Given the description of an element on the screen output the (x, y) to click on. 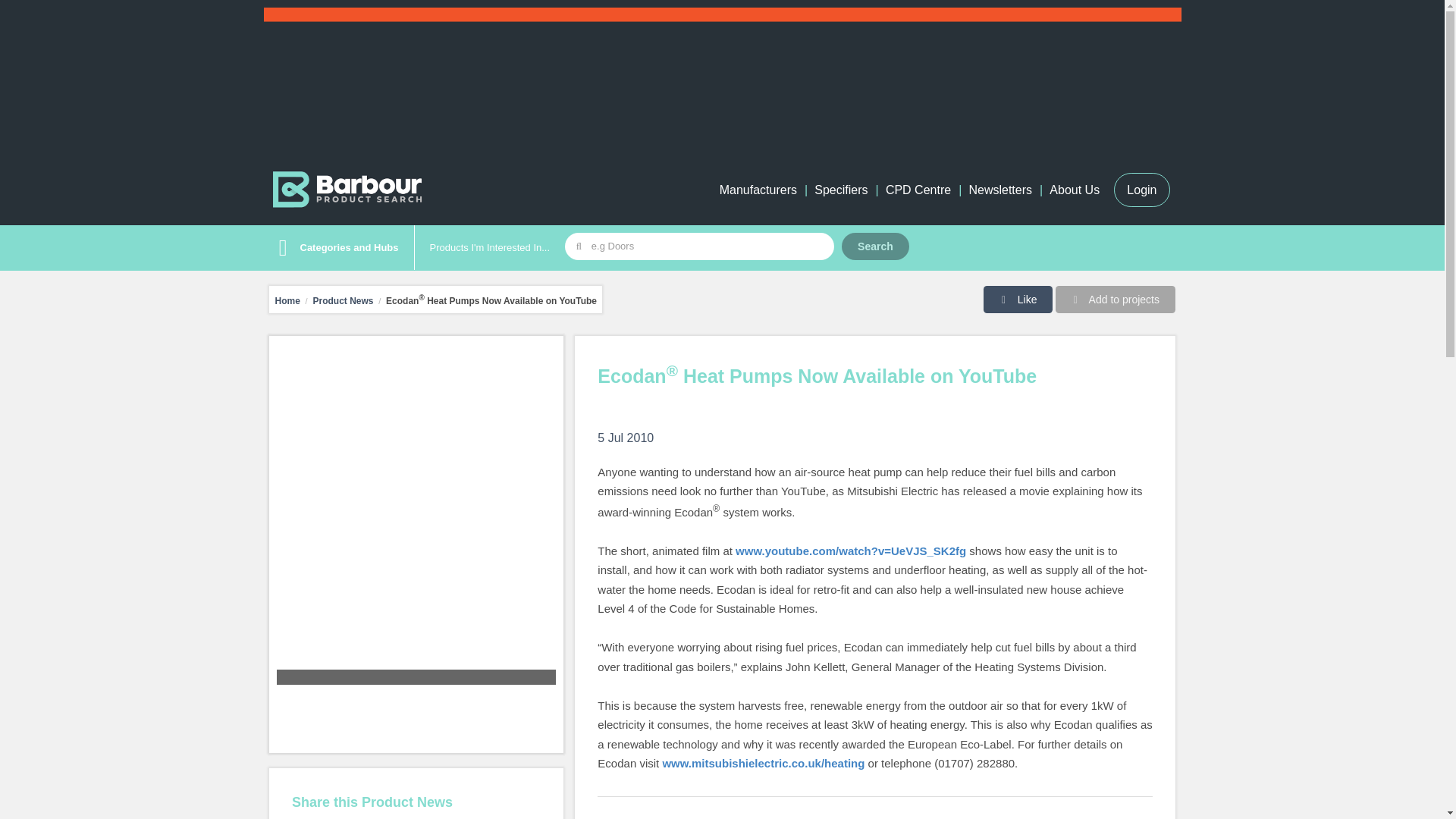
Login (1141, 189)
Categories and Hubs (333, 248)
About Us (1074, 189)
Newsletters (1000, 189)
Specifiers (840, 189)
CPD Centre (917, 189)
Construction Enquirer (721, 75)
Manufacturers (757, 189)
